Given the description of an element on the screen output the (x, y) to click on. 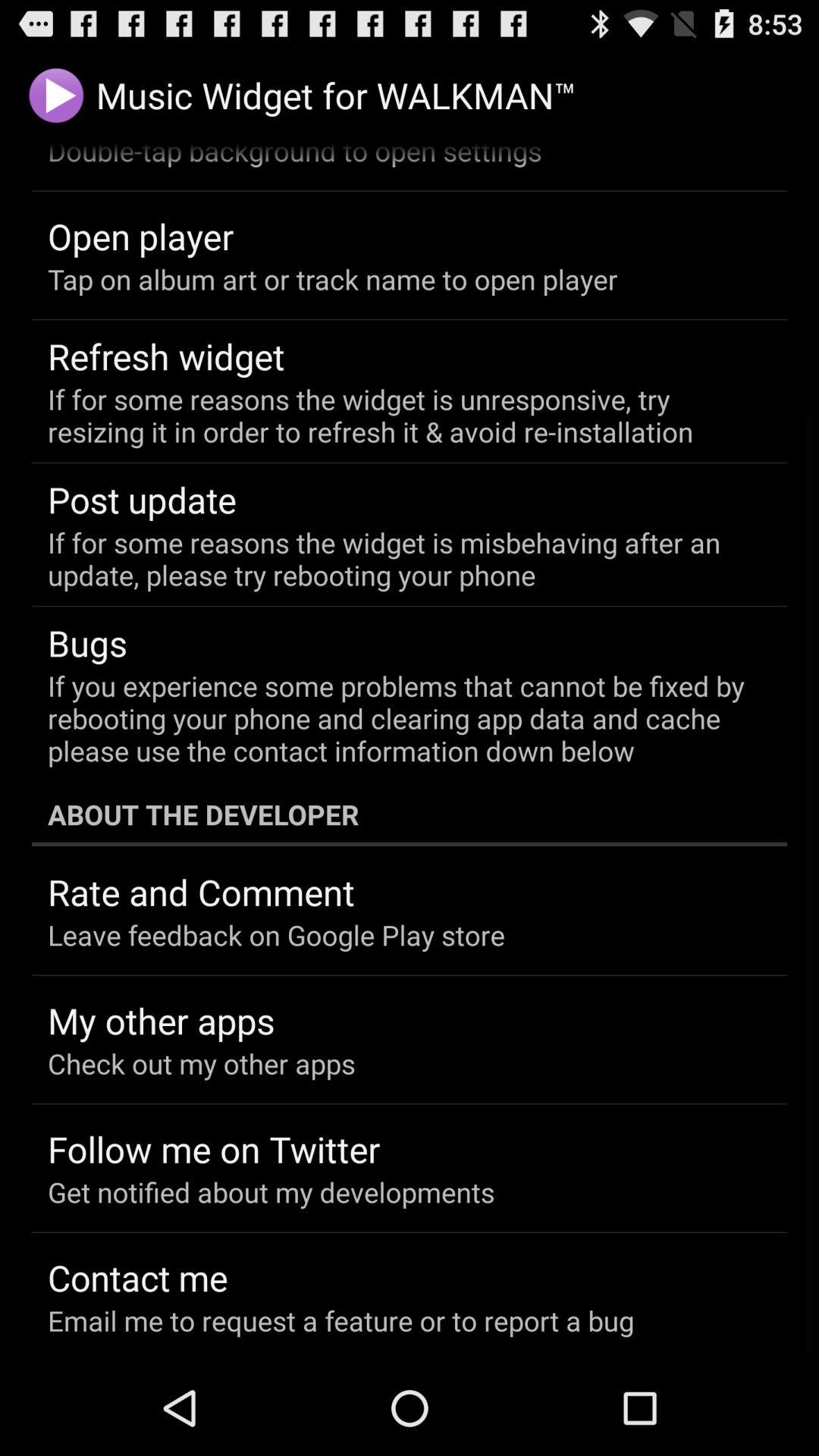
turn on item above the leave feedback on icon (200, 891)
